Given the description of an element on the screen output the (x, y) to click on. 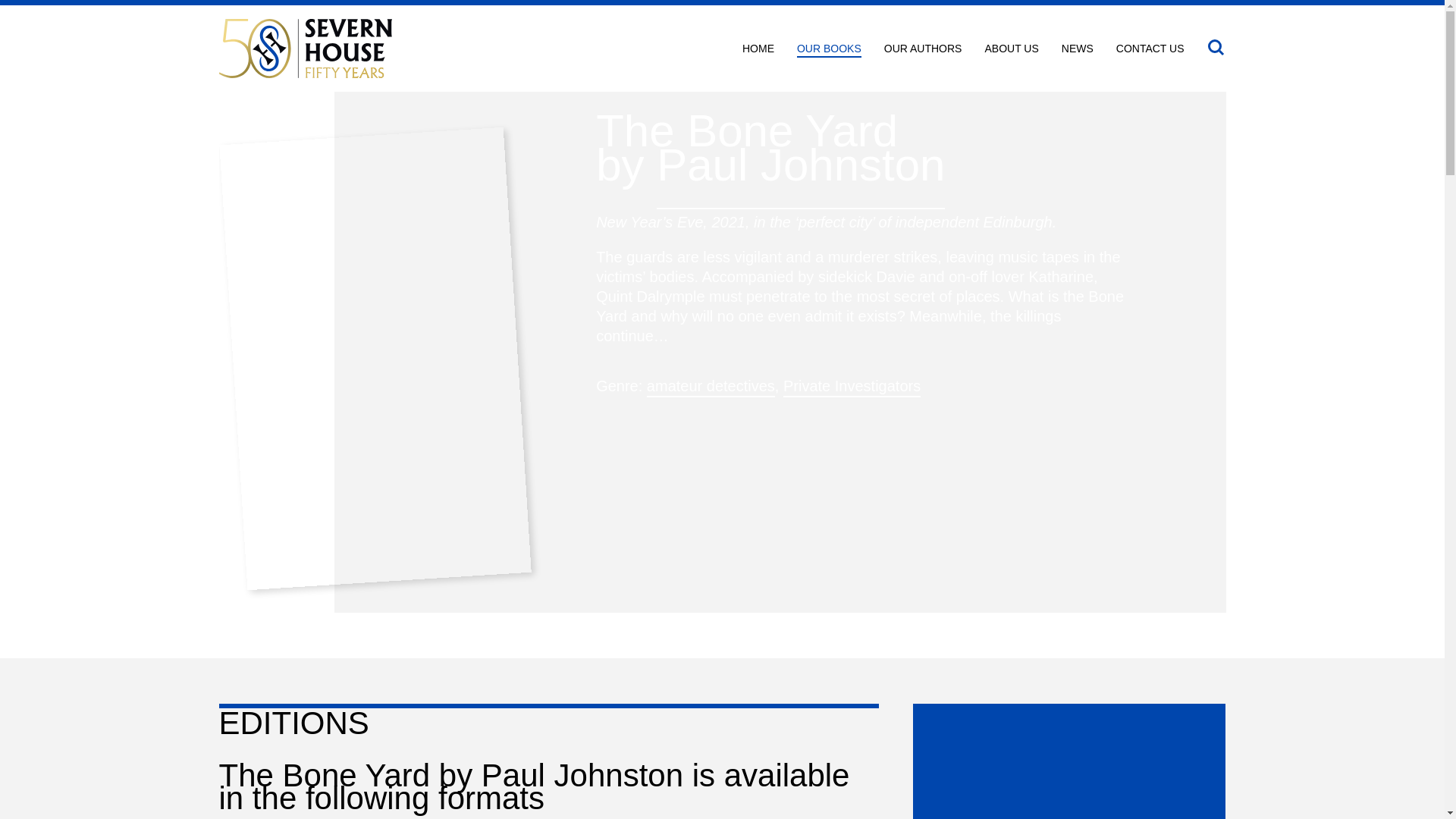
OUR BOOKS (828, 49)
NEWS (1077, 49)
HOME (758, 49)
Private Investigators (851, 387)
CONTACT US (1150, 49)
Paul Johnston (800, 165)
ABOUT US (1011, 49)
OUR AUTHORS (922, 49)
amateur detectives (710, 387)
